Given the description of an element on the screen output the (x, y) to click on. 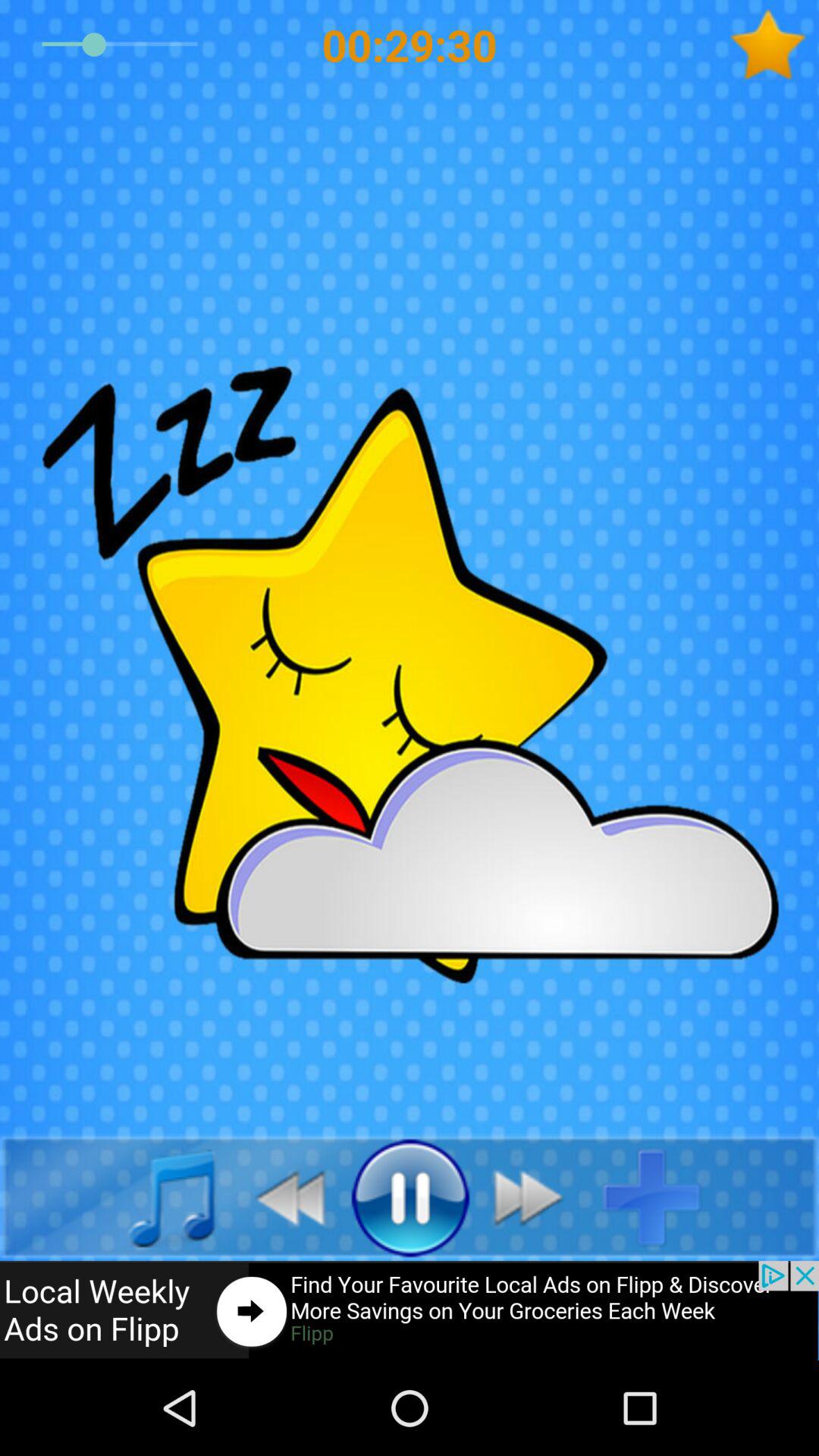
go to previous option (281, 1196)
